Given the description of an element on the screen output the (x, y) to click on. 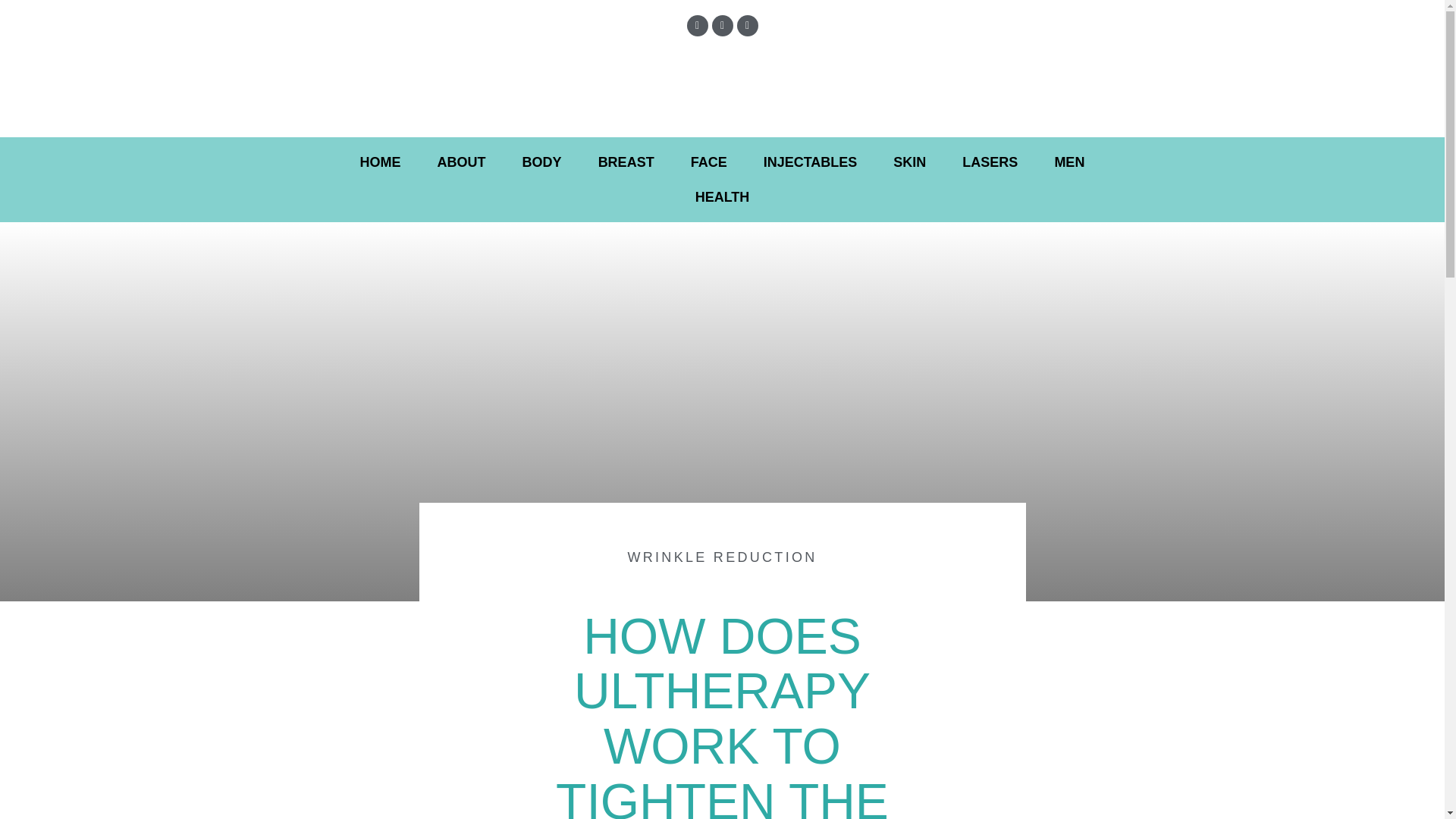
INJECTABLES (810, 161)
HOME (380, 161)
ABOUT (461, 161)
BODY (541, 161)
BREAST (625, 161)
Twitter (721, 25)
Rss (747, 25)
Facebook (697, 25)
FACE (708, 161)
SKIN (909, 161)
